Given the description of an element on the screen output the (x, y) to click on. 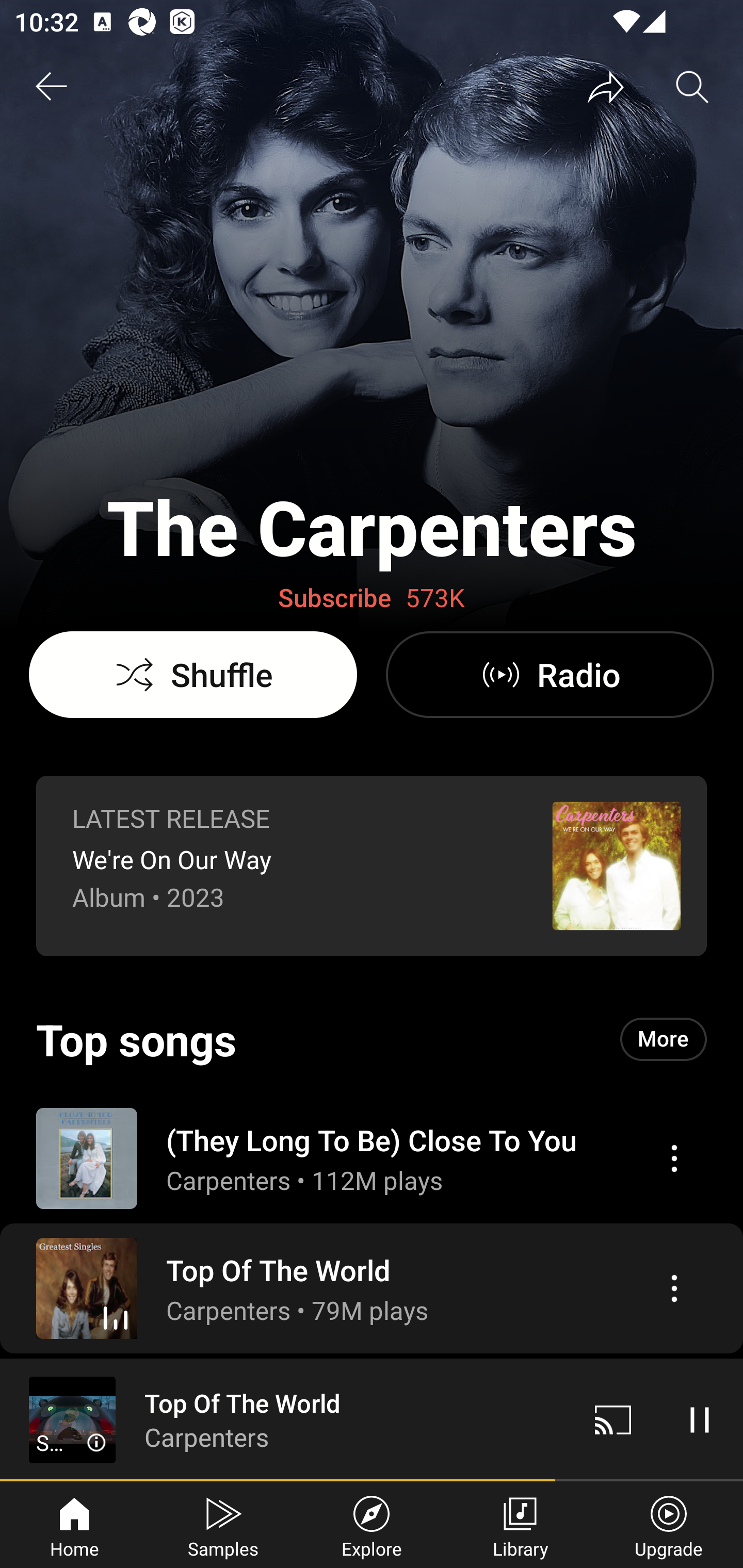
Back (50, 86)
Share (605, 86)
Search (692, 86)
Subscribe 573K (371, 598)
Shuffle (192, 674)
Radio (549, 674)
Action menu (371, 1157)
Action menu (673, 1158)
Action menu (371, 1288)
Action menu (673, 1288)
Top Of The World Carpenters (284, 1419)
Cast. Disconnected (612, 1419)
Pause video (699, 1419)
Sponsored · 2 of 2 · 0:08 (71, 1442)
Home (74, 1524)
Samples (222, 1524)
Explore (371, 1524)
Library (519, 1524)
Upgrade (668, 1524)
